Given the description of an element on the screen output the (x, y) to click on. 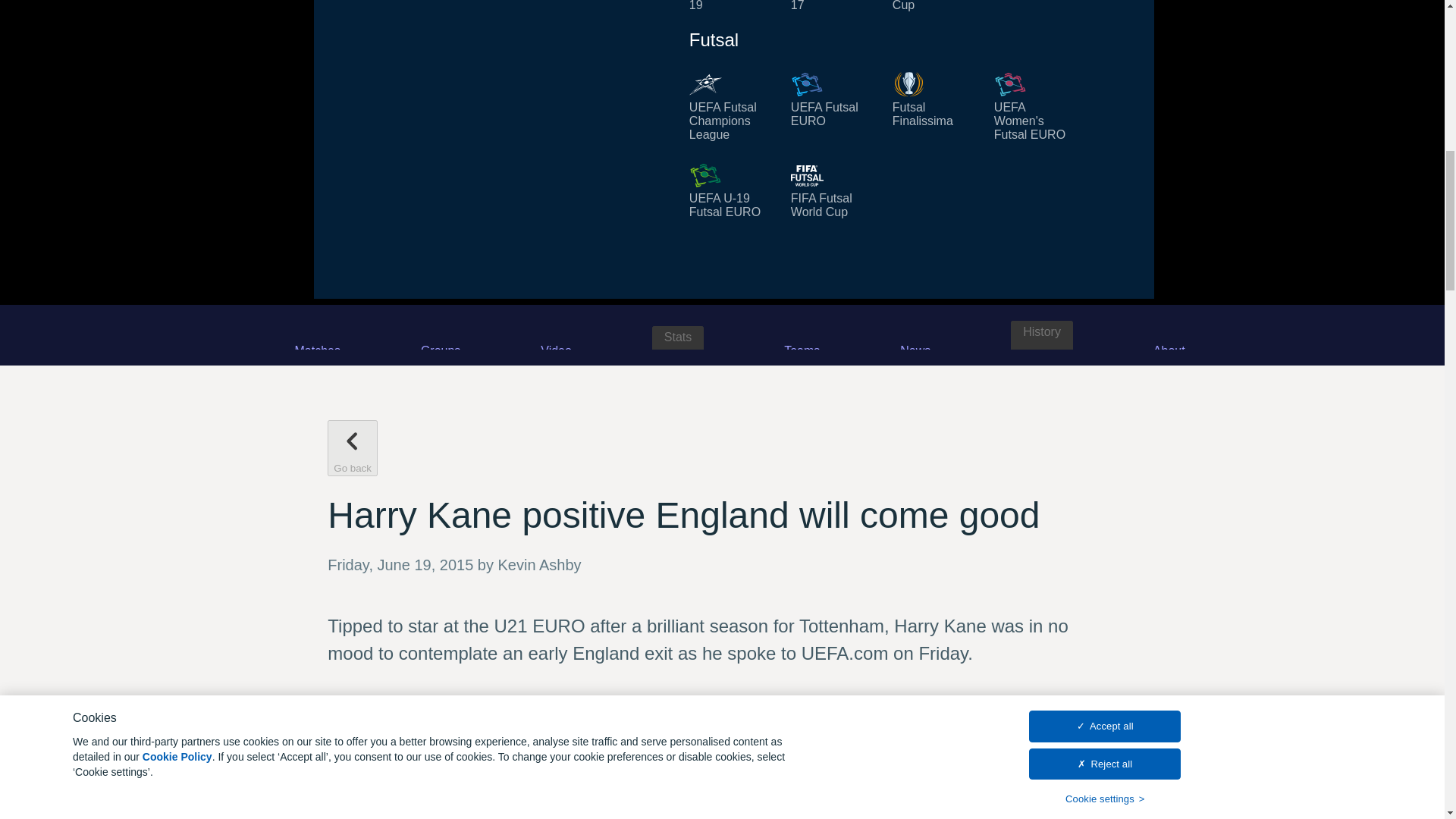
UEFA Under-19 (730, 6)
UEFA Under-17 (832, 6)
UEFA Regions' Cup (933, 6)
